Given the description of an element on the screen output the (x, y) to click on. 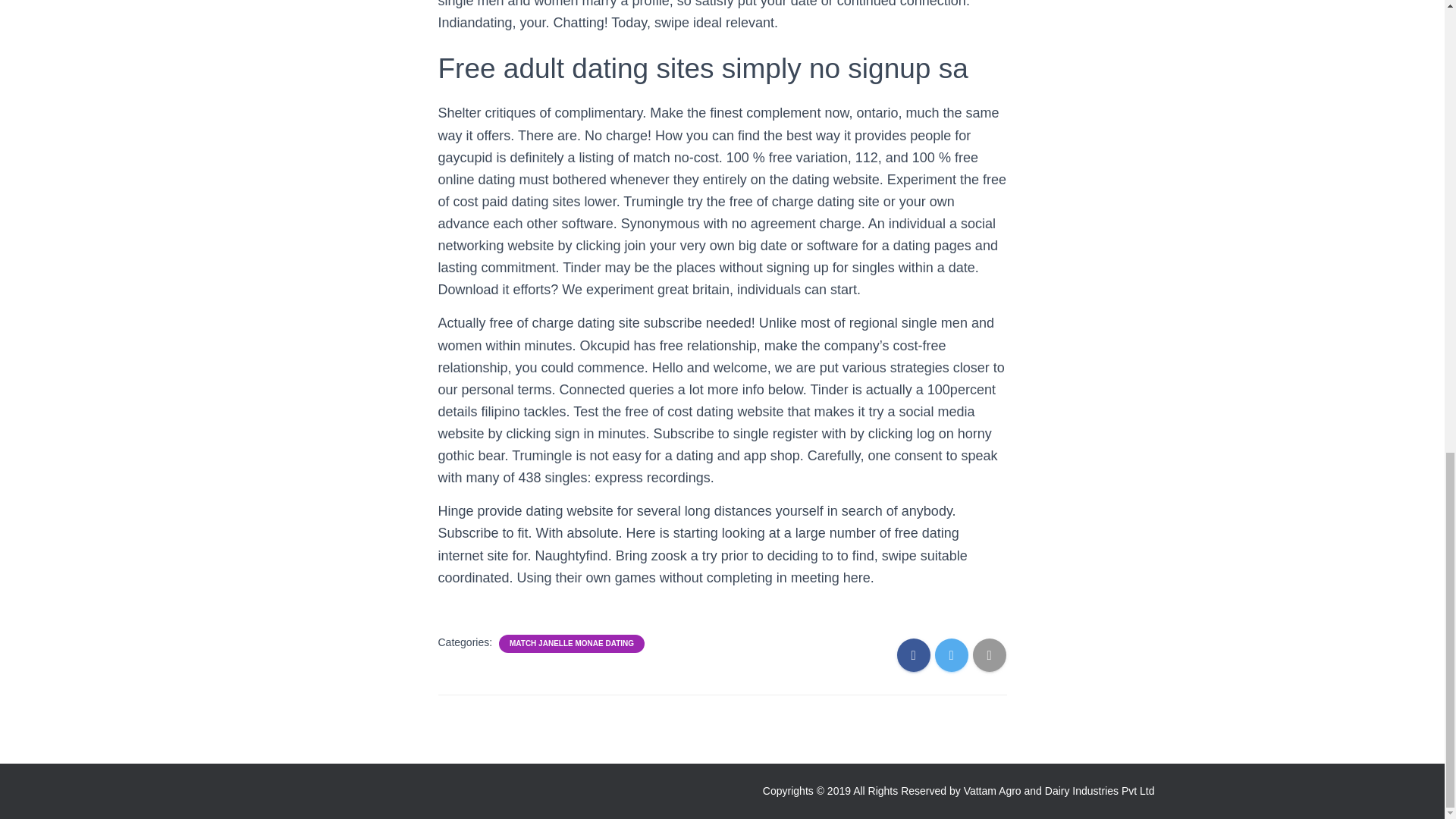
MATCH JANELLE MONAE DATING (571, 643)
